Given the description of an element on the screen output the (x, y) to click on. 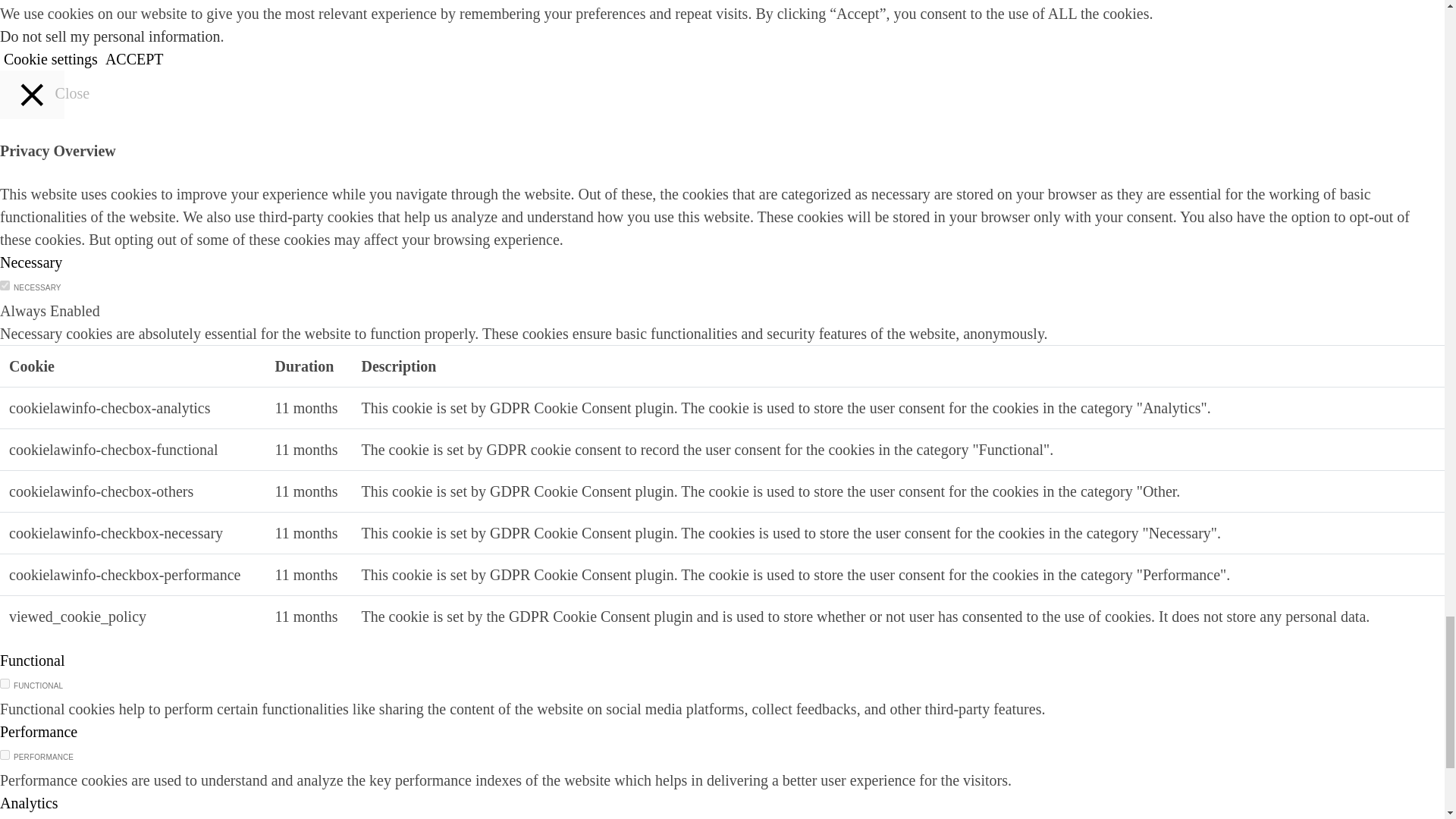
on (5, 683)
on (5, 285)
on (5, 755)
